Given the description of an element on the screen output the (x, y) to click on. 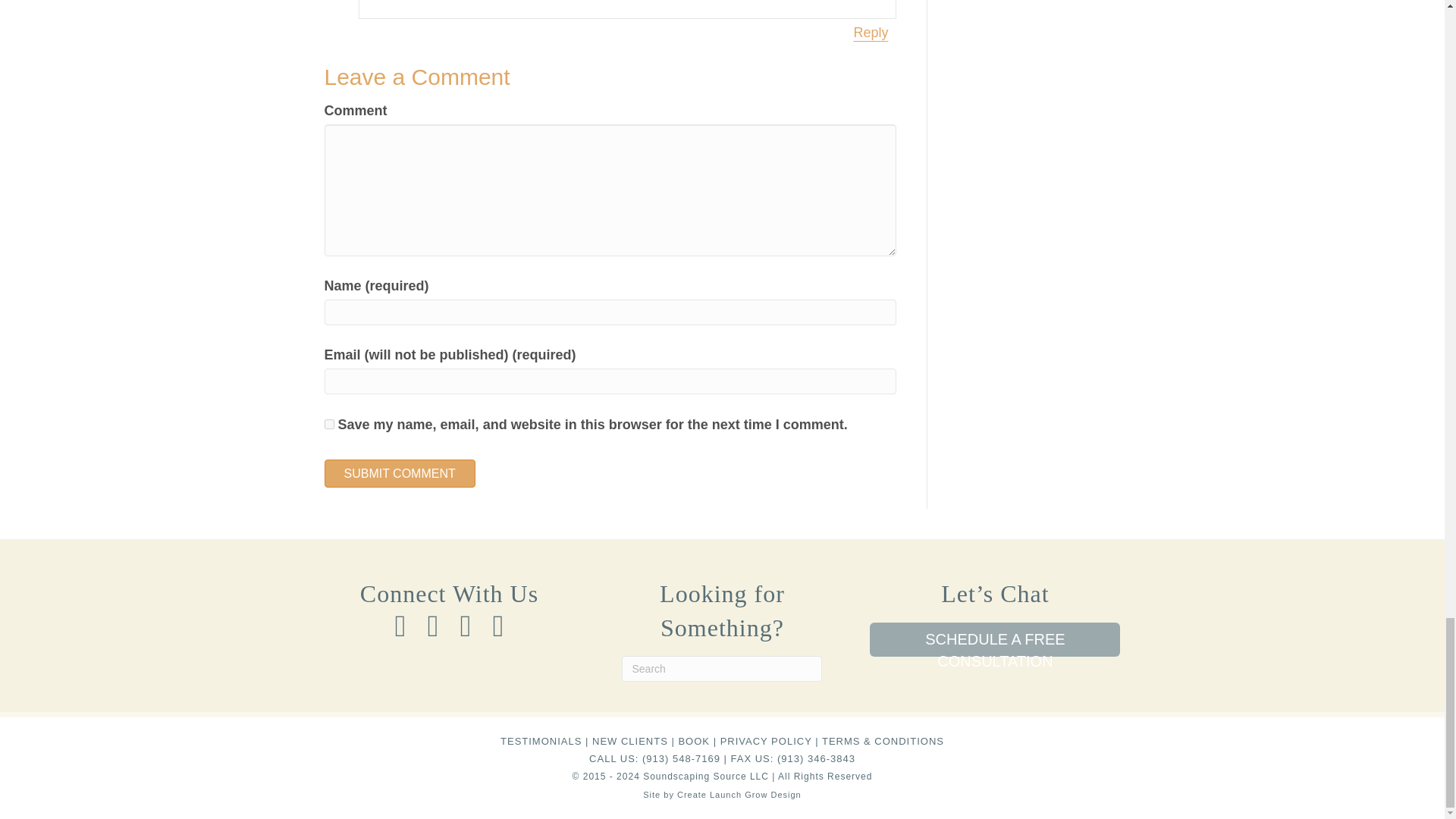
yes (329, 424)
Instagram (432, 625)
Type and press Enter to search. (721, 668)
Submit Comment (400, 473)
Submit Comment (400, 473)
YouTube (498, 625)
Reply (869, 32)
LinkedIn (464, 625)
Facebook (399, 625)
